Given the description of an element on the screen output the (x, y) to click on. 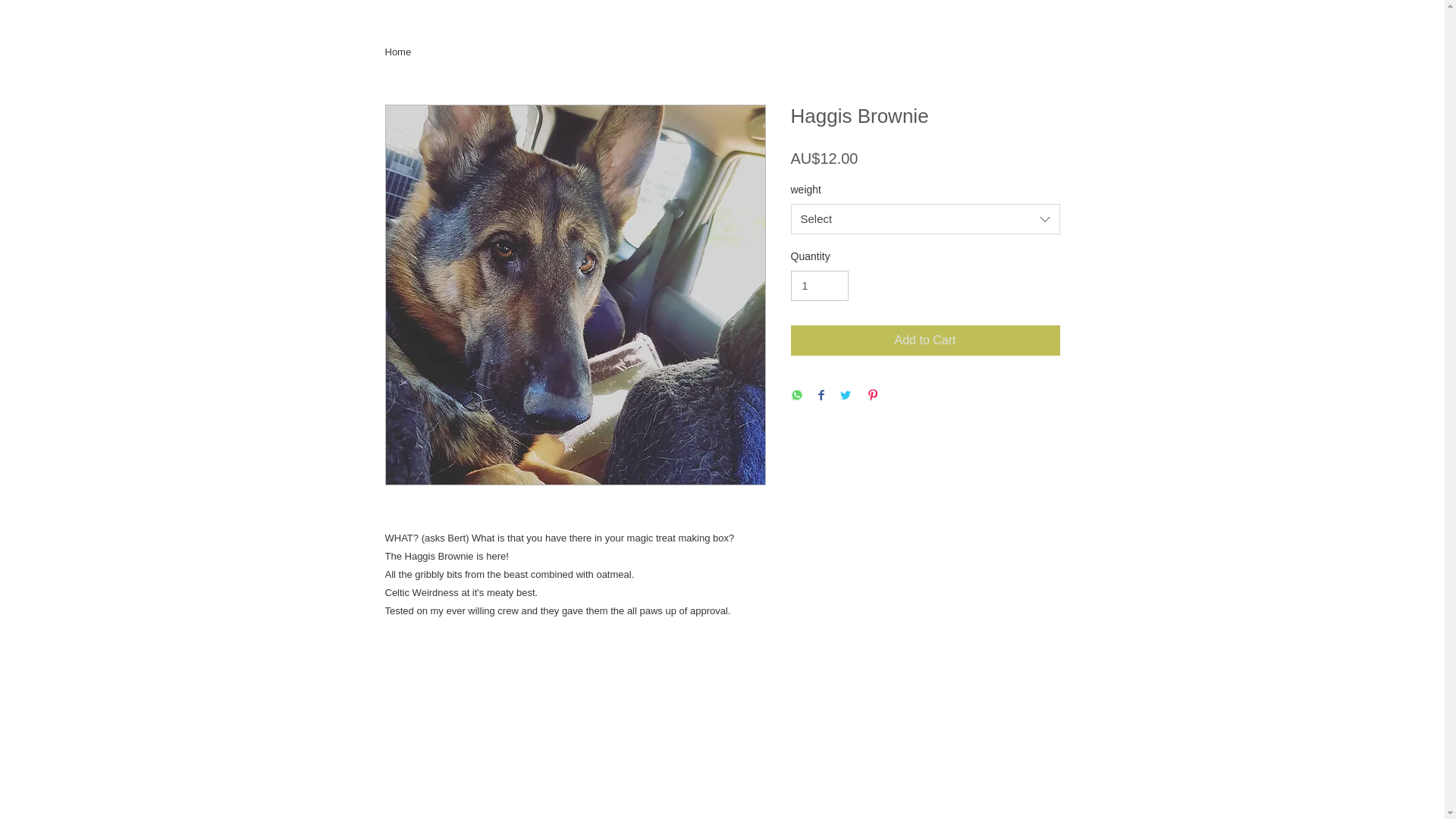
Select Element type: text (924, 218)
Home Element type: text (398, 51)
Add to Cart Element type: text (924, 340)
